Given the description of an element on the screen output the (x, y) to click on. 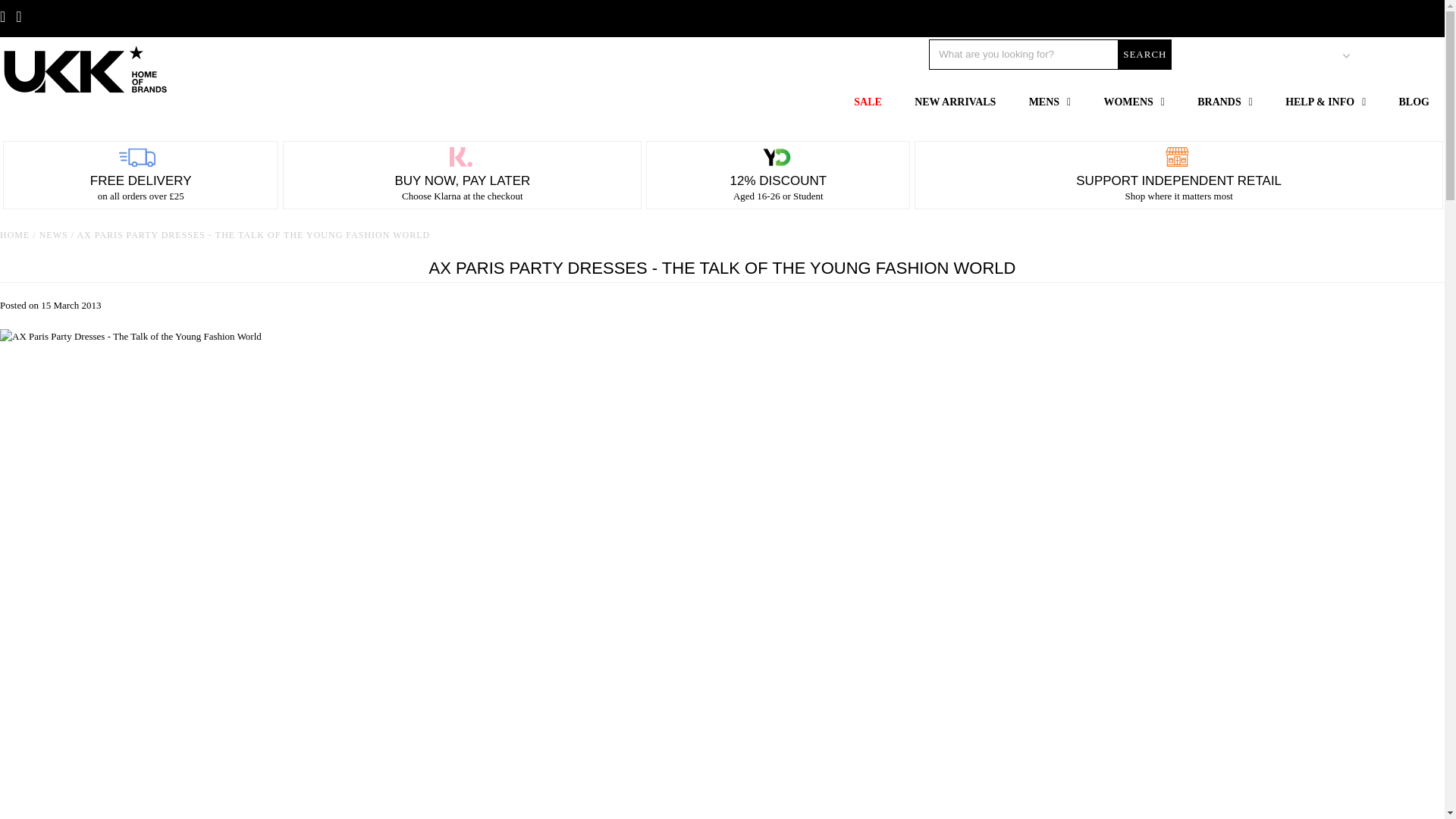
SALE (867, 102)
MENS (1049, 102)
Home (14, 235)
SEARCH (1144, 54)
WOMENS (1133, 102)
NEW ARRIVALS (954, 102)
